Given the description of an element on the screen output the (x, y) to click on. 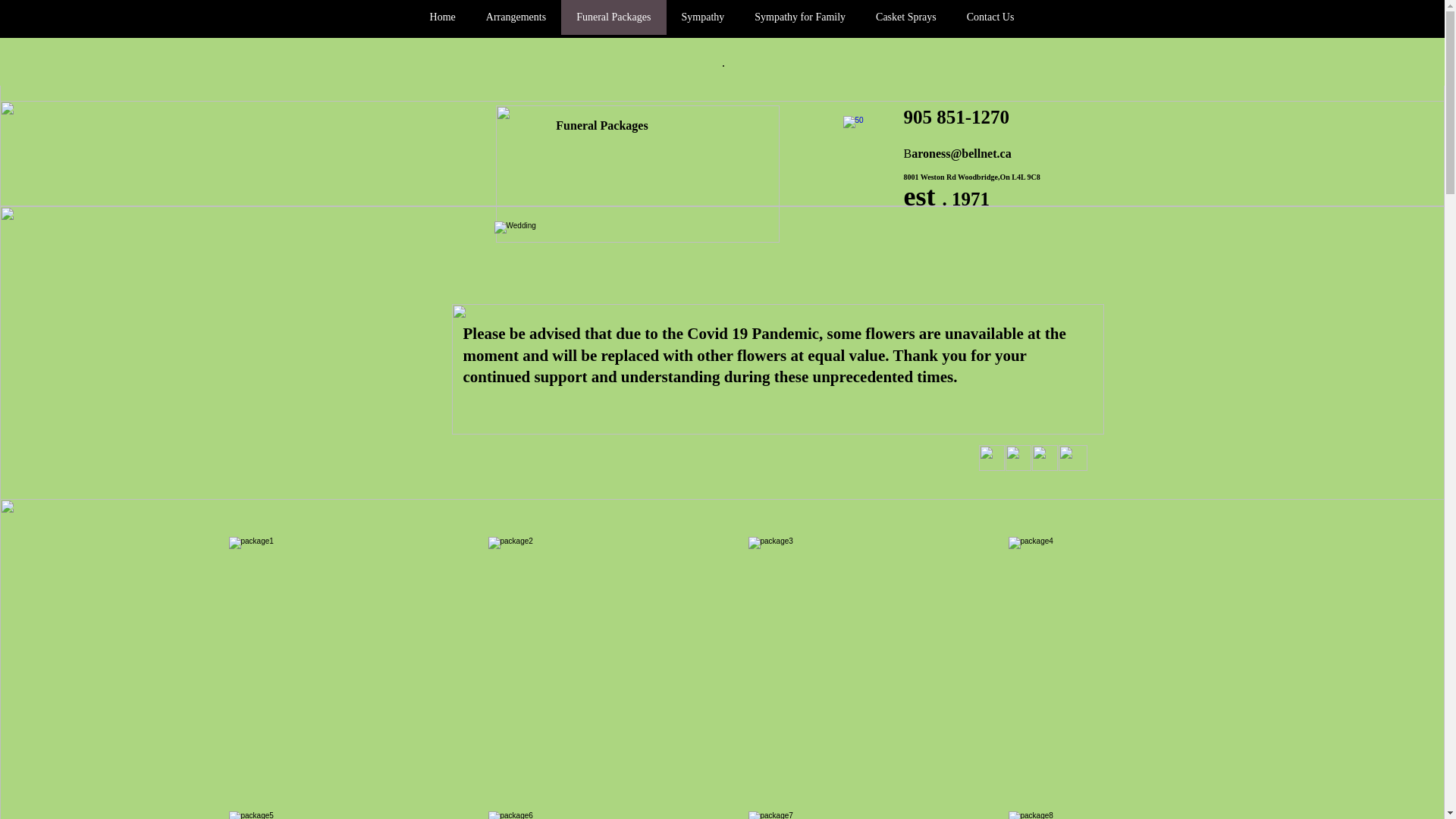
Sympathy for Family Element type: text (799, 17)
Arrangements Element type: text (515, 17)
Casket Sprays Element type: text (905, 17)
905 851-1270 Element type: text (956, 118)
Sympathy Element type: text (702, 17)
Baroness@bellnet.ca Element type: text (957, 153)
Funeral Packages Element type: text (613, 17)
Home Element type: text (442, 17)
Contact Us Element type: text (990, 17)
